Given the description of an element on the screen output the (x, y) to click on. 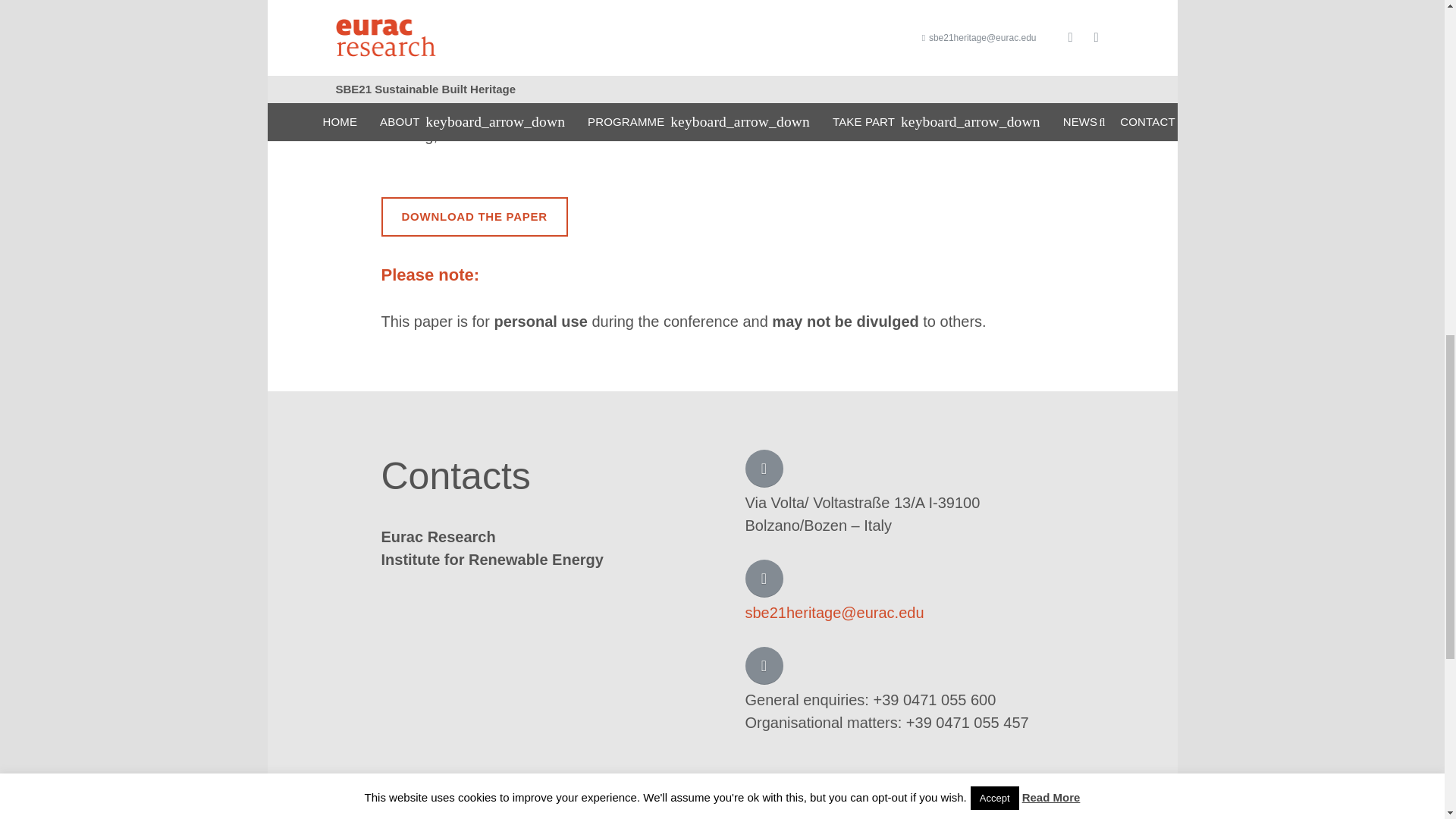
Twitter (1040, 805)
LinkedIn (992, 805)
DOWNLOAD THE PAPER (473, 216)
Back to top (1413, 45)
